Given the description of an element on the screen output the (x, y) to click on. 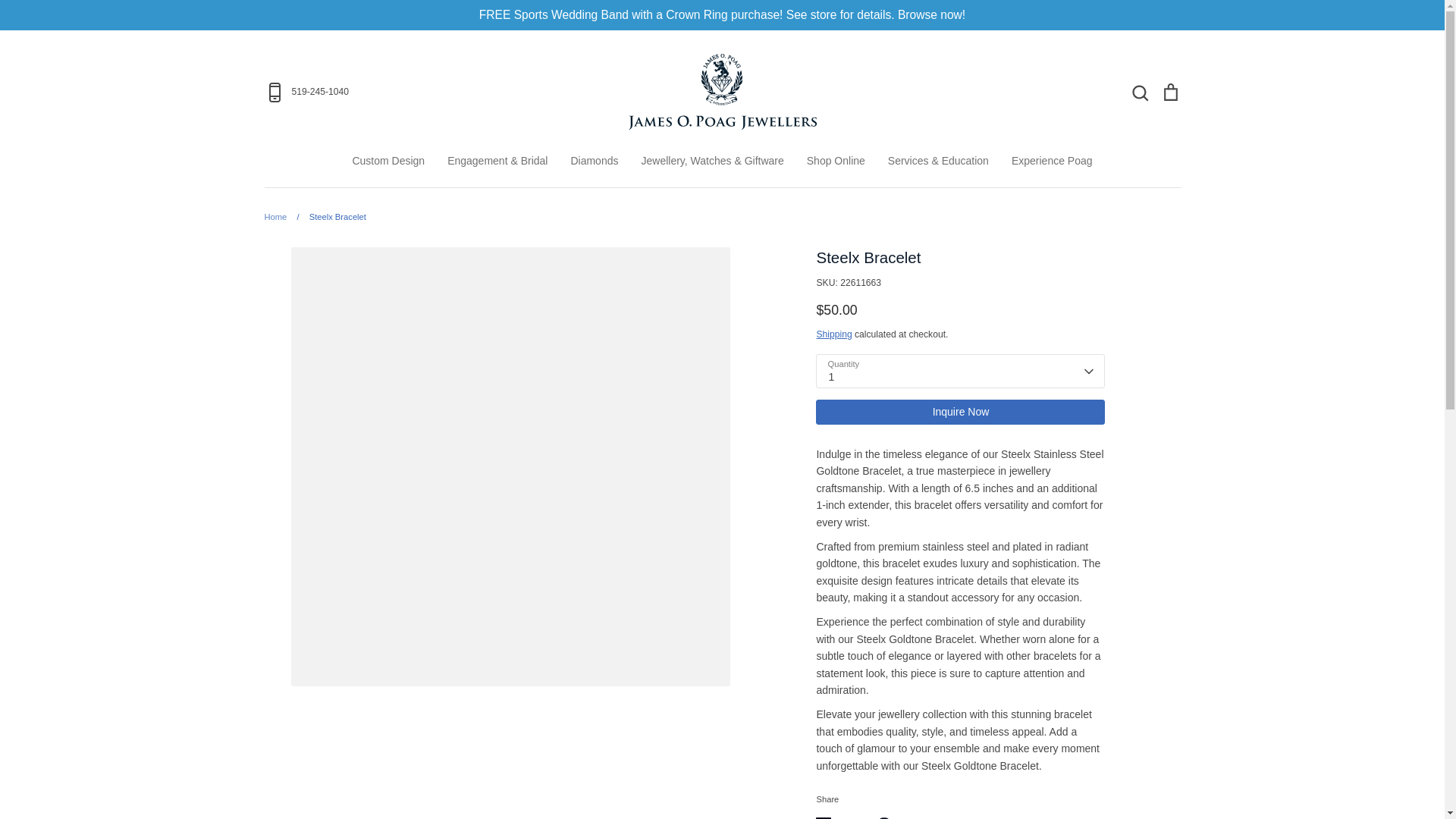
Diamonds (593, 160)
Custom Design (388, 160)
Search (1139, 91)
519-245-1040 (414, 92)
Cart (1169, 91)
